Given the description of an element on the screen output the (x, y) to click on. 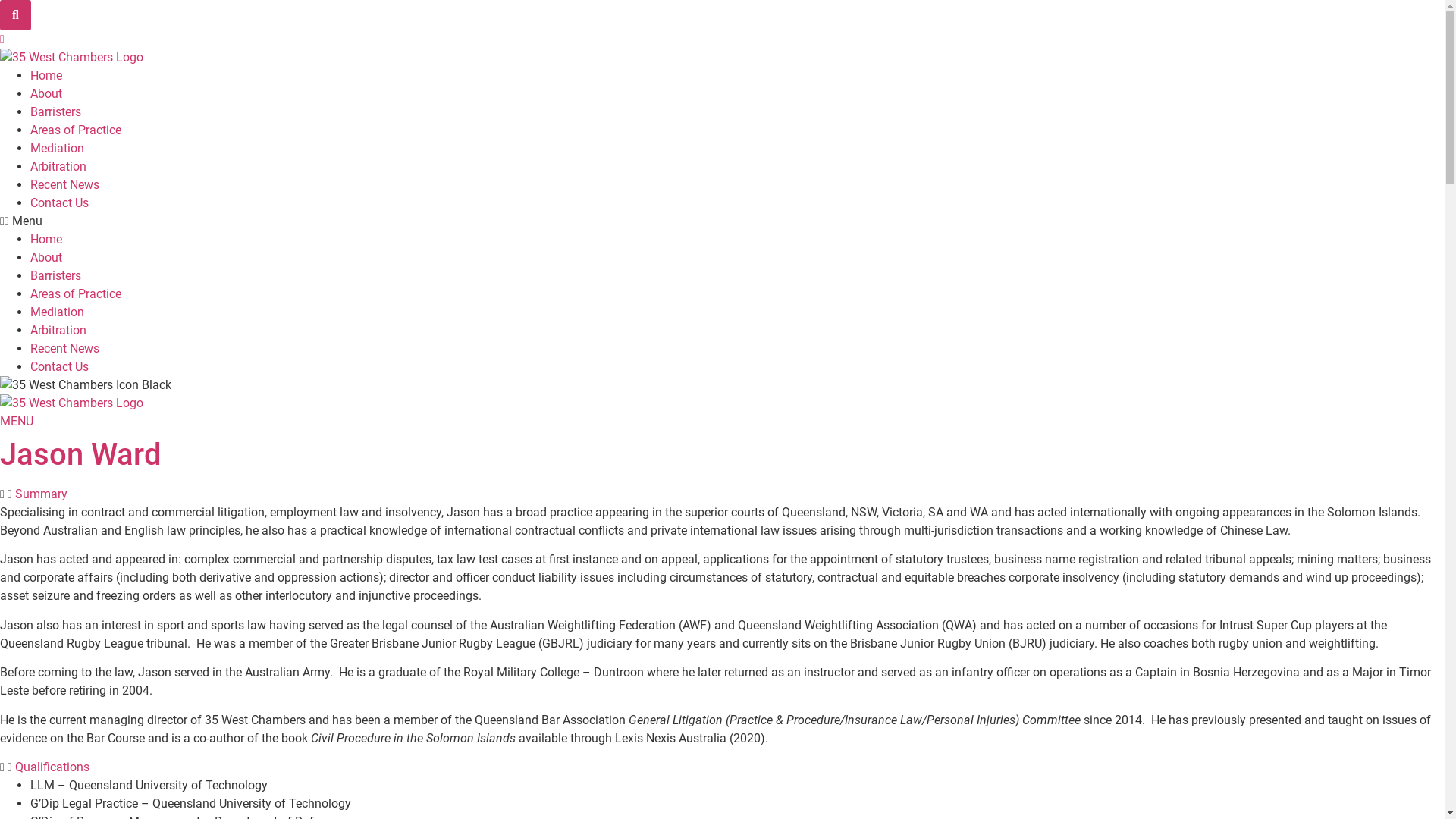
Mediation Element type: text (57, 311)
Contact Us Element type: text (59, 202)
Qualifications Element type: text (52, 766)
Arbitration Element type: text (58, 330)
Arbitration Element type: text (58, 166)
Home Element type: text (46, 239)
About Element type: text (46, 257)
Summary Element type: text (41, 493)
Barristers Element type: text (55, 111)
Areas of Practice Element type: text (75, 129)
Home Element type: text (46, 75)
Recent News Element type: text (64, 348)
Recent News Element type: text (64, 184)
Barristers Element type: text (55, 275)
Jason Ward Element type: text (80, 454)
Mediation Element type: text (57, 148)
About Element type: text (46, 93)
Contact Us Element type: text (59, 366)
Areas of Practice Element type: text (75, 293)
MENU Element type: text (16, 421)
